Given the description of an element on the screen output the (x, y) to click on. 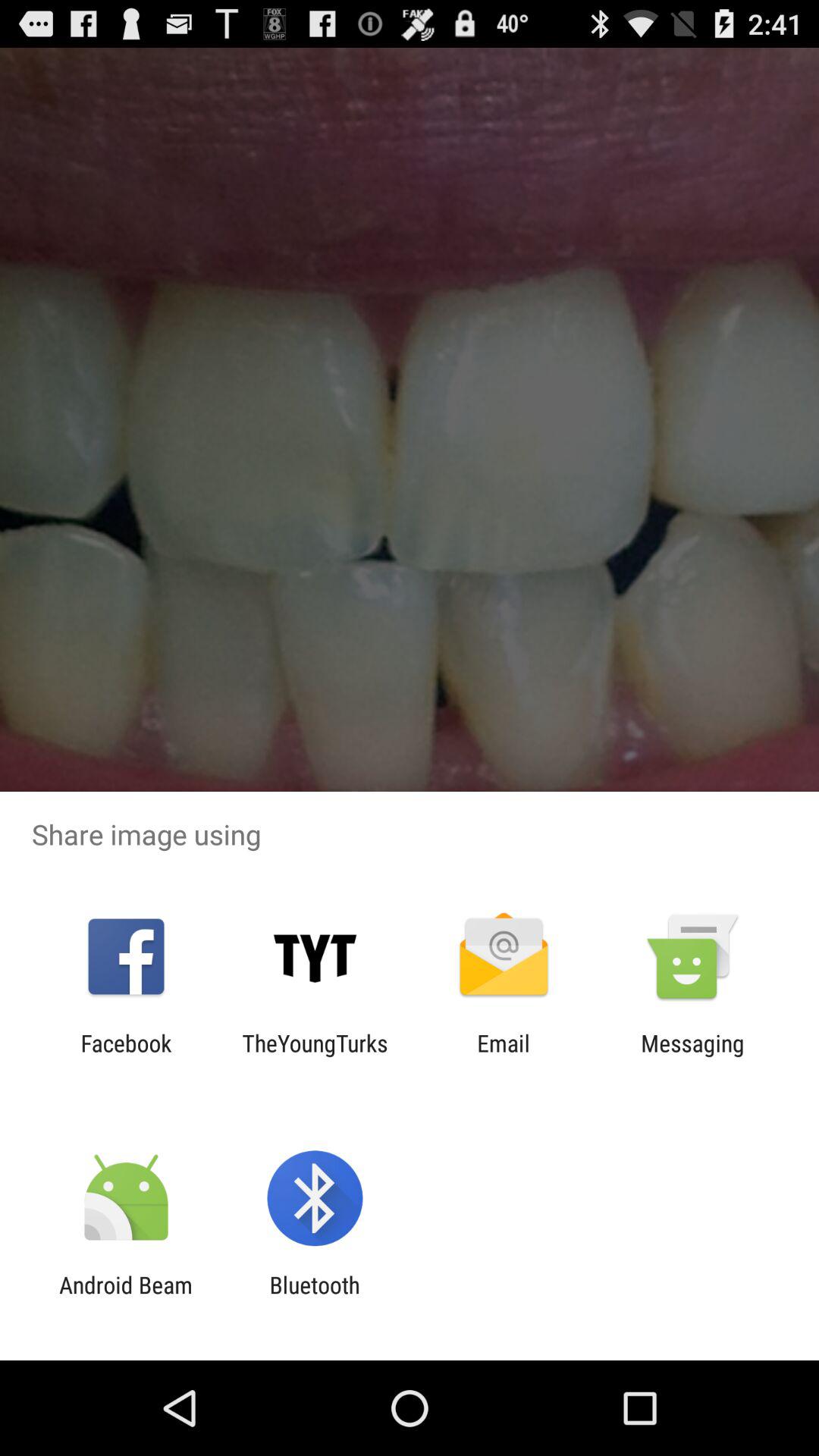
jump to the email item (503, 1056)
